Given the description of an element on the screen output the (x, y) to click on. 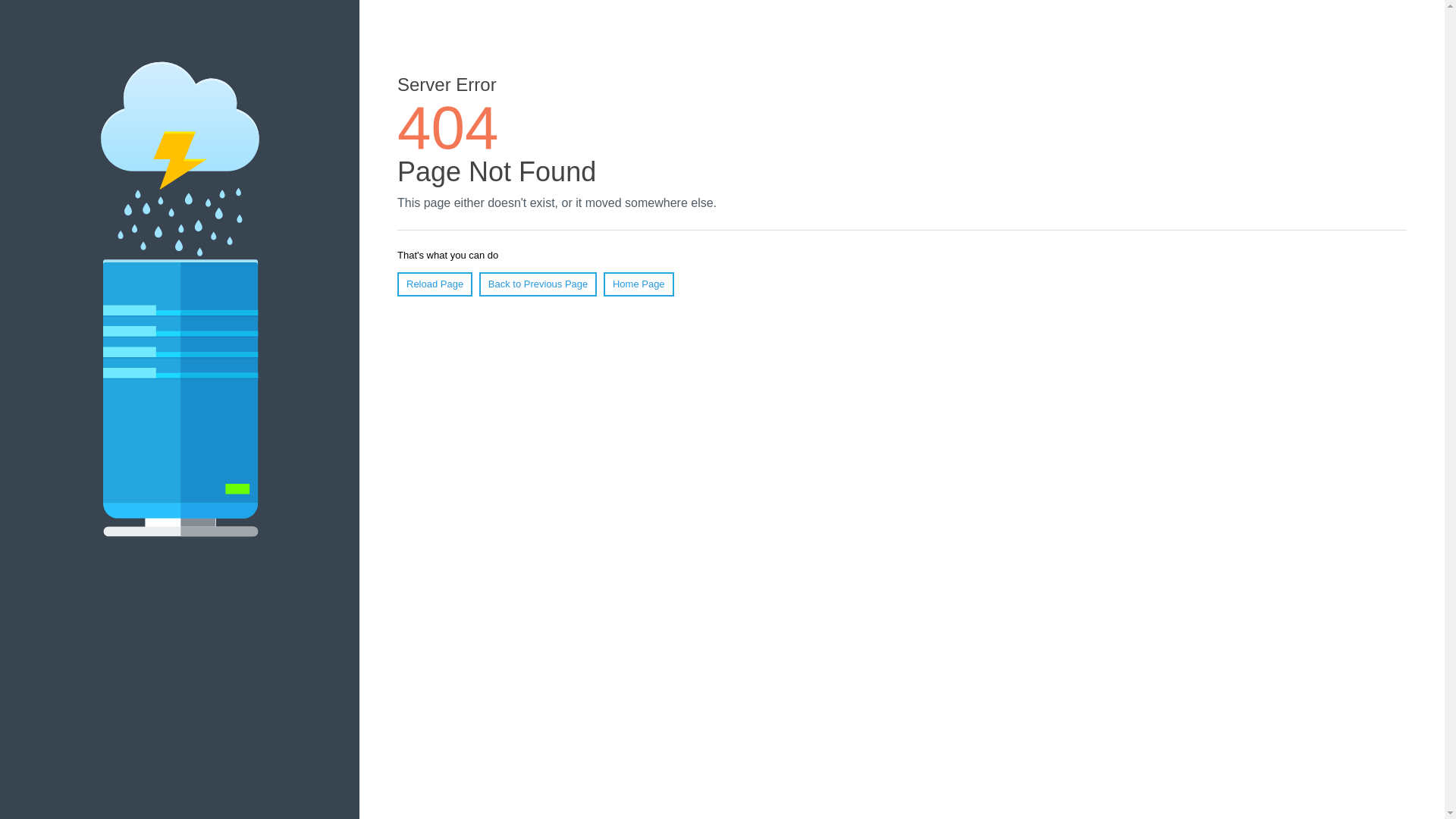
Home Page Element type: text (638, 284)
Back to Previous Page Element type: text (538, 284)
Reload Page Element type: text (434, 284)
